Given the description of an element on the screen output the (x, y) to click on. 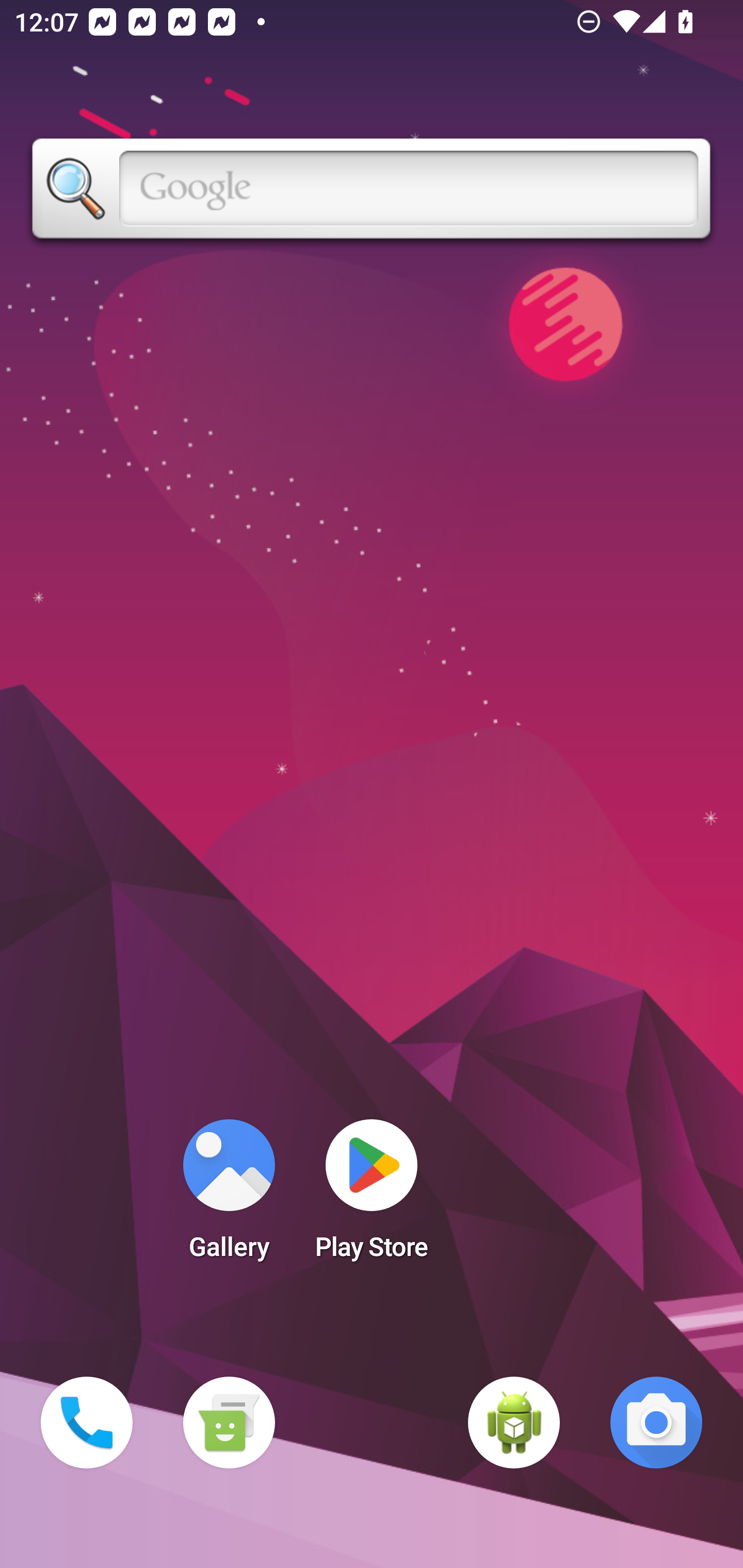
Gallery (228, 1195)
Play Store (371, 1195)
Phone (86, 1422)
Messaging (228, 1422)
WebView Browser Tester (513, 1422)
Camera (656, 1422)
